Given the description of an element on the screen output the (x, y) to click on. 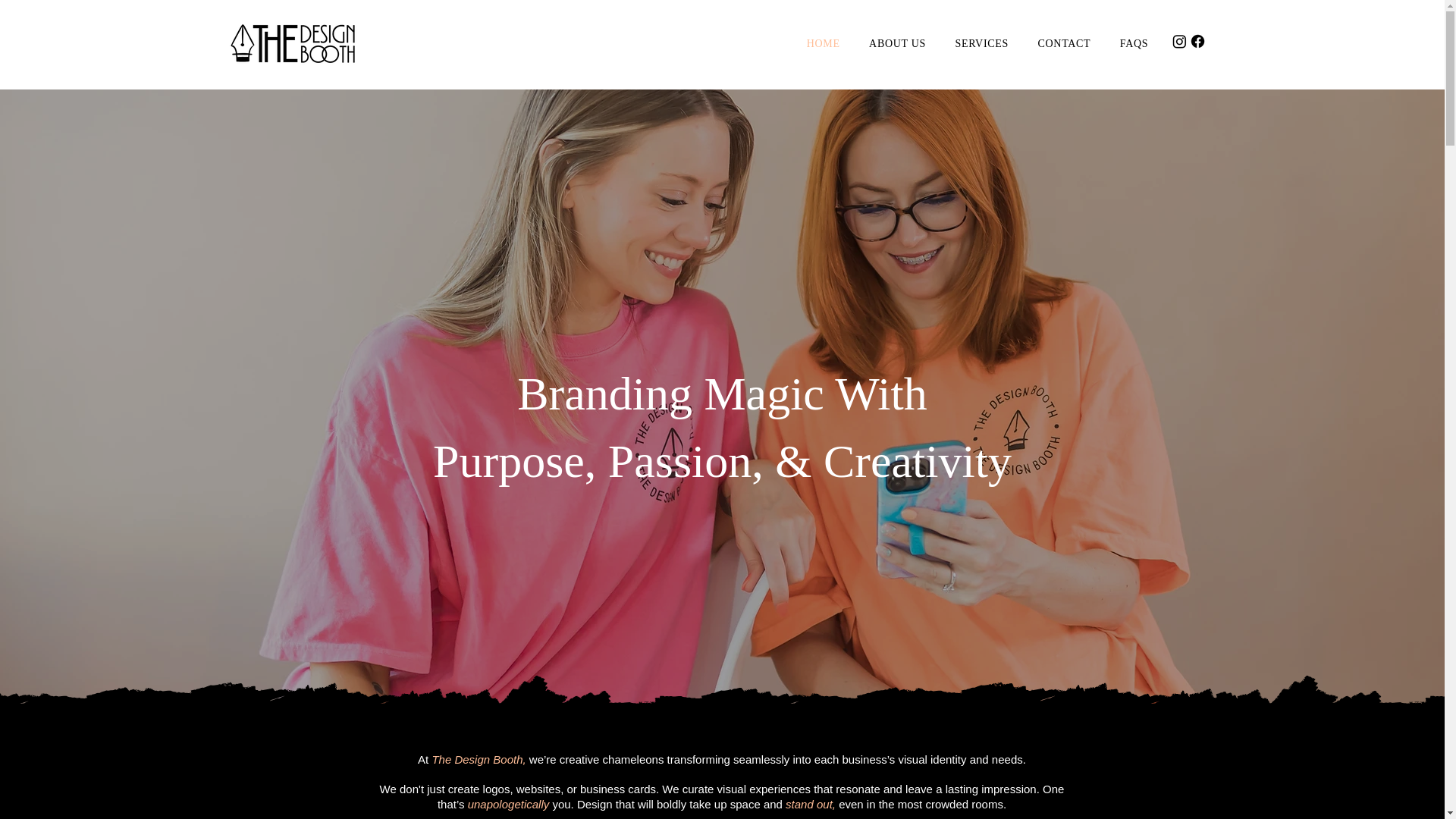
The Design Booth Logo (292, 43)
FAQS (1134, 43)
CONTACT (1063, 43)
SERVICES (981, 43)
HOME (823, 43)
ABOUT US (897, 43)
